Given the description of an element on the screen output the (x, y) to click on. 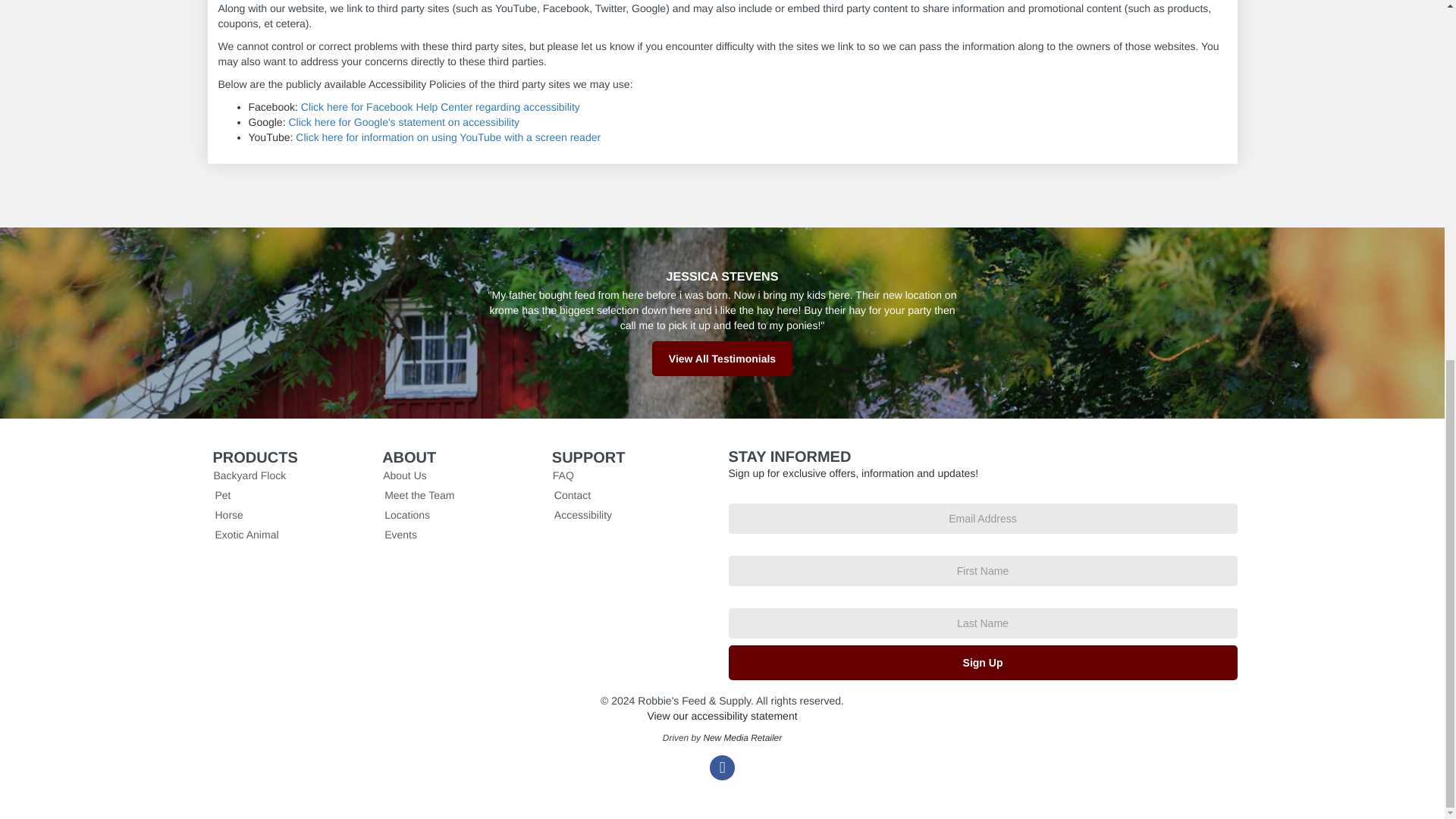
Click here for Google's statement on accessibility (403, 121)
Click here for Facebook Help Center regarding accessibility (440, 106)
